Given the description of an element on the screen output the (x, y) to click on. 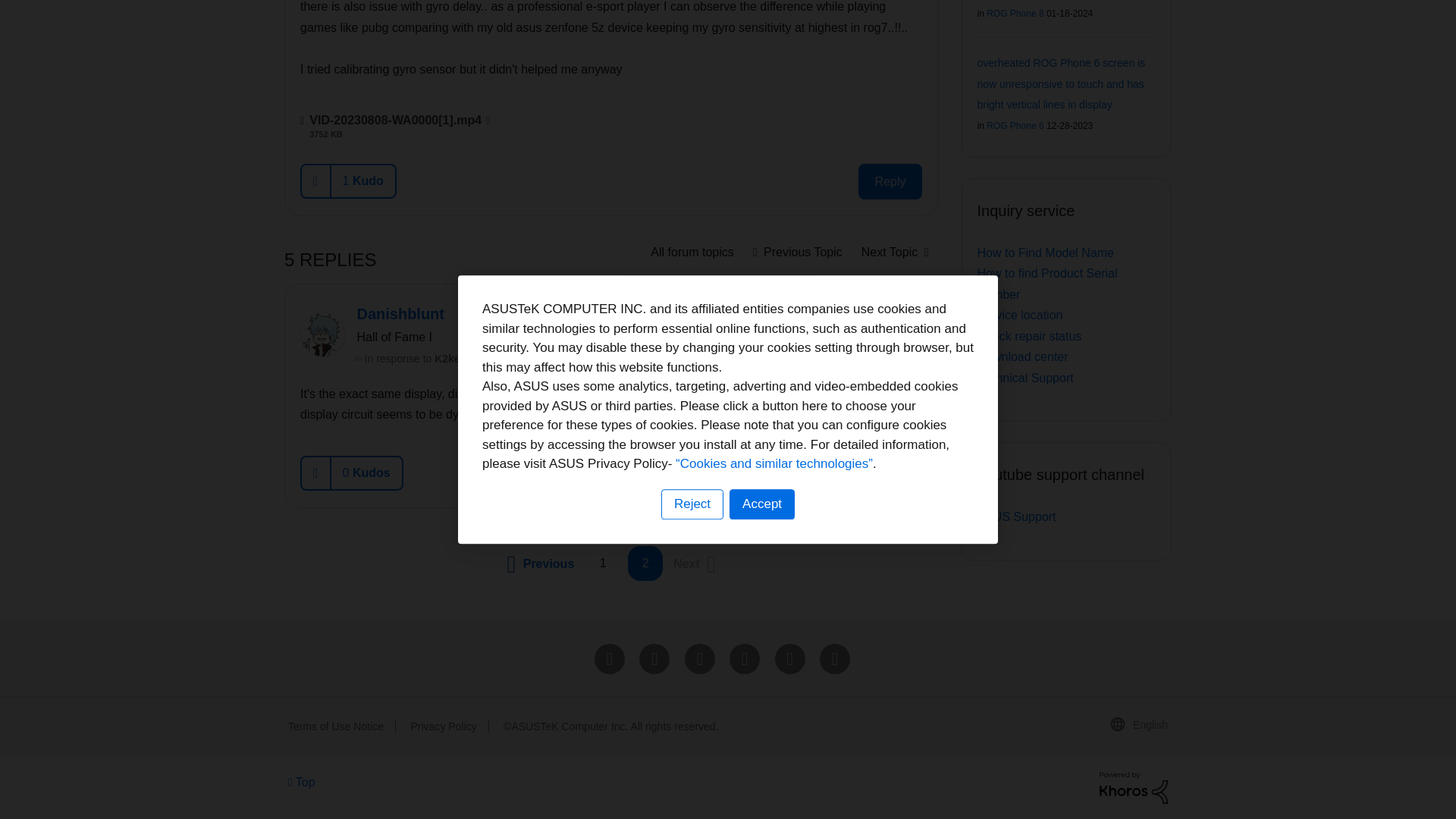
Download attachment (488, 120)
